Given the description of an element on the screen output the (x, y) to click on. 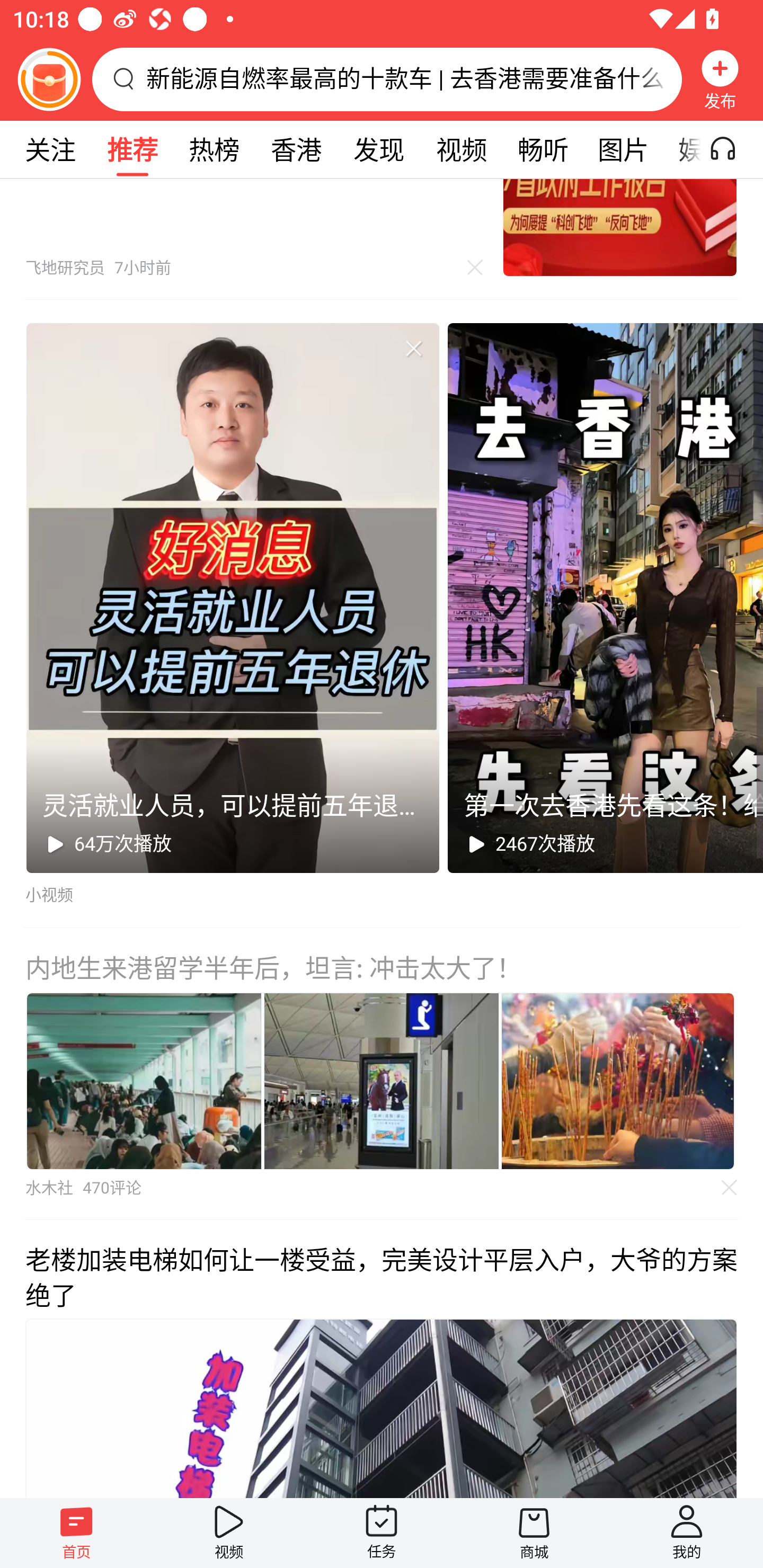
阅读赚金币 (48, 79)
发布 发布，按钮 (720, 78)
关注 (50, 149)
推荐 (132, 149)
热榜 (213, 149)
香港 (295, 149)
发现 (378, 149)
视频 (461, 149)
畅听 (542, 149)
图片 (623, 149)
听一听开关 (732, 149)
不感兴趣 (474, 267)
不感兴趣 (413, 347)
内容图片 (143, 1080)
内容图片 (381, 1080)
内容图片 (617, 1080)
不感兴趣 (729, 1186)
播放视频 视频播放器，双击屏幕打开播放控制 (381, 1407)
首页 (76, 1532)
视频 (228, 1532)
任务 (381, 1532)
商城 (533, 1532)
我的 (686, 1532)
